Given the description of an element on the screen output the (x, y) to click on. 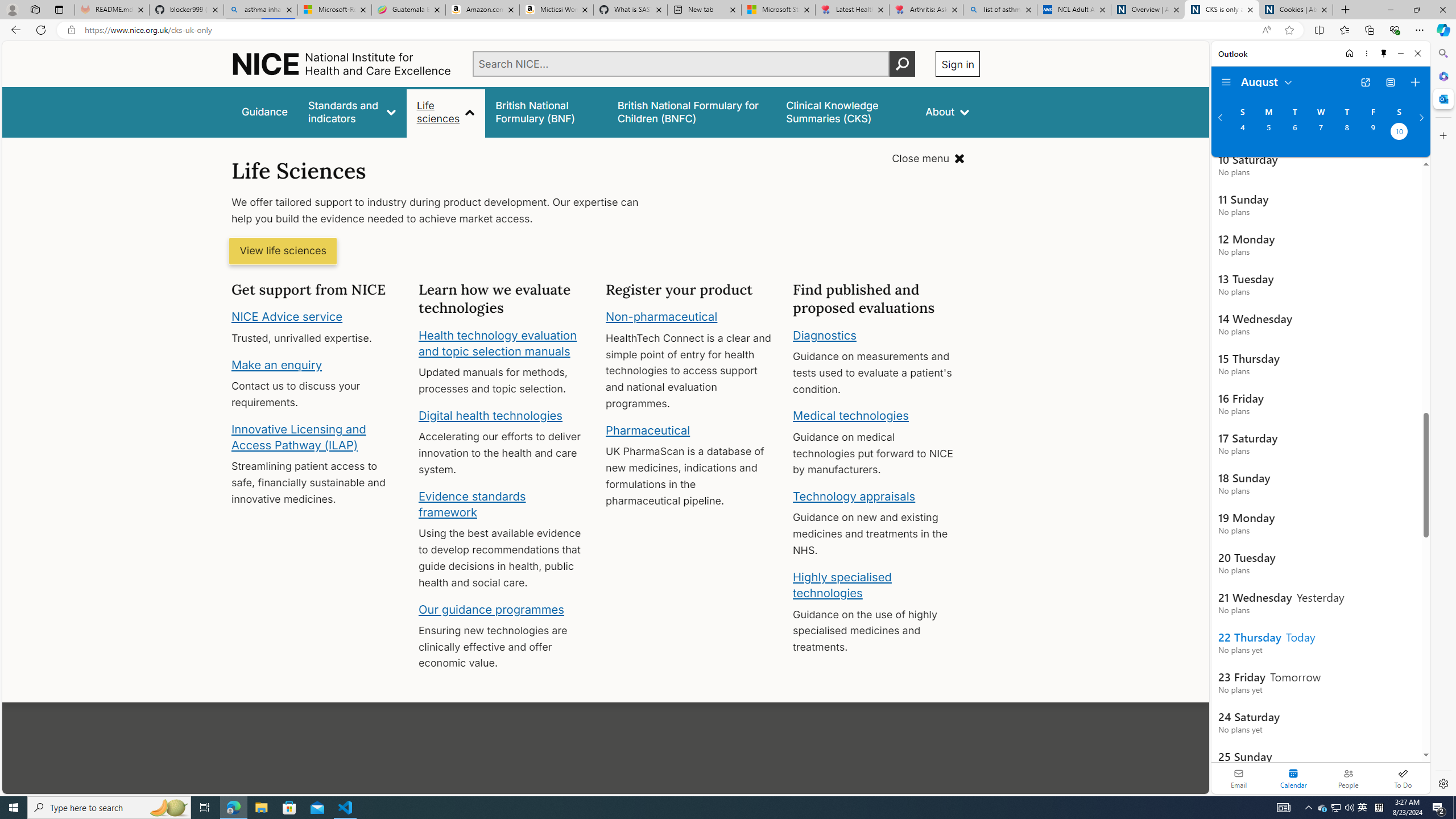
Wednesday, August 7, 2024.  (1320, 132)
Open in new tab (1365, 82)
Medical technologies (850, 415)
